Given the description of an element on the screen output the (x, y) to click on. 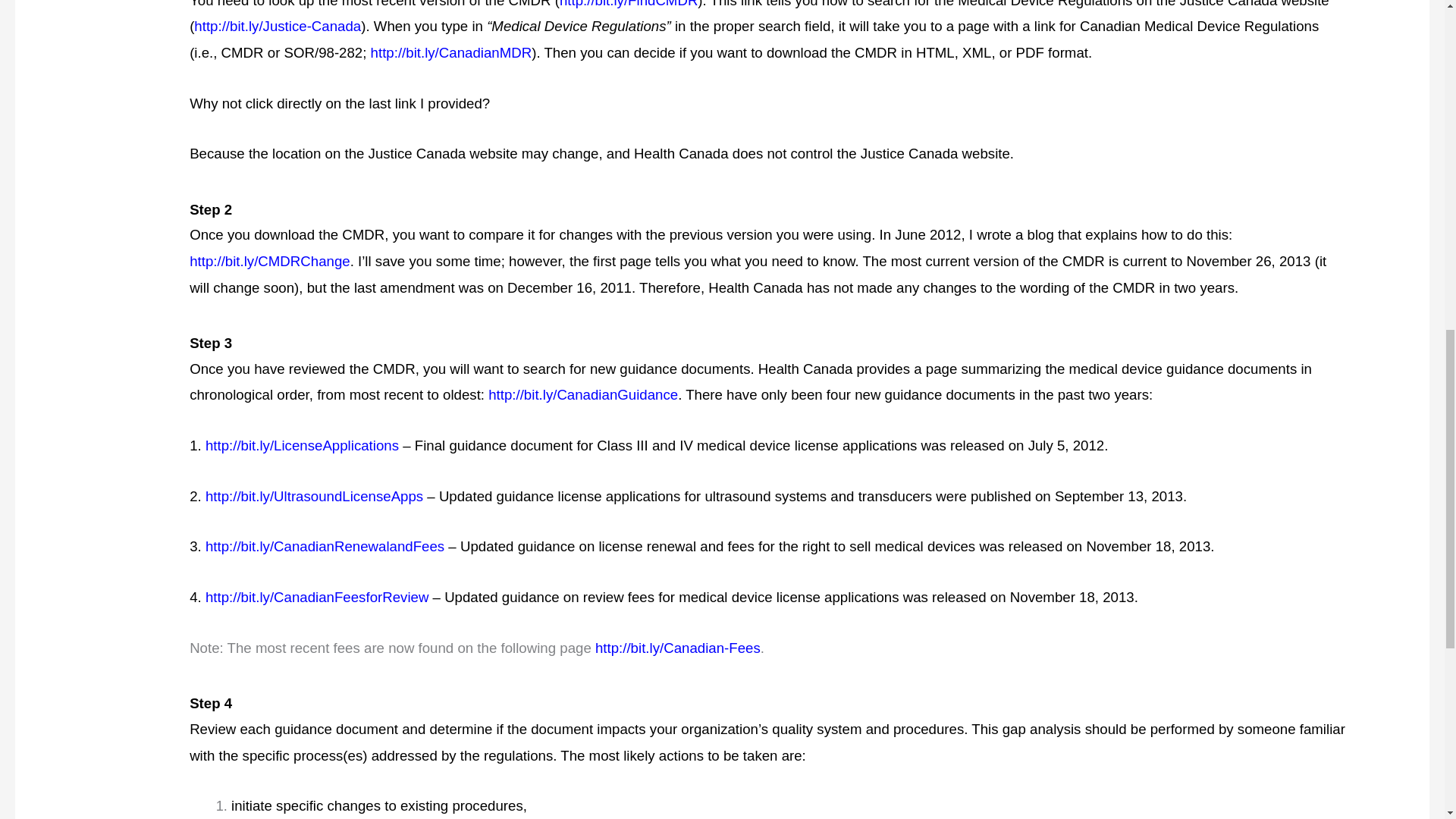
Link to Justice Canada website (277, 26)
Link to page with Canadian Medical Device Guidance Documents (582, 394)
Link to CMDR (451, 52)
Updated Guidance on fees for review (317, 596)
Link to Ultrasound Device Licensing Guidance Document (314, 496)
Updated guidance on license renewal and fees (324, 546)
Link for directions to download the CMDR (628, 4)
Link to the License Application Guidance Document (301, 445)
